Given the description of an element on the screen output the (x, y) to click on. 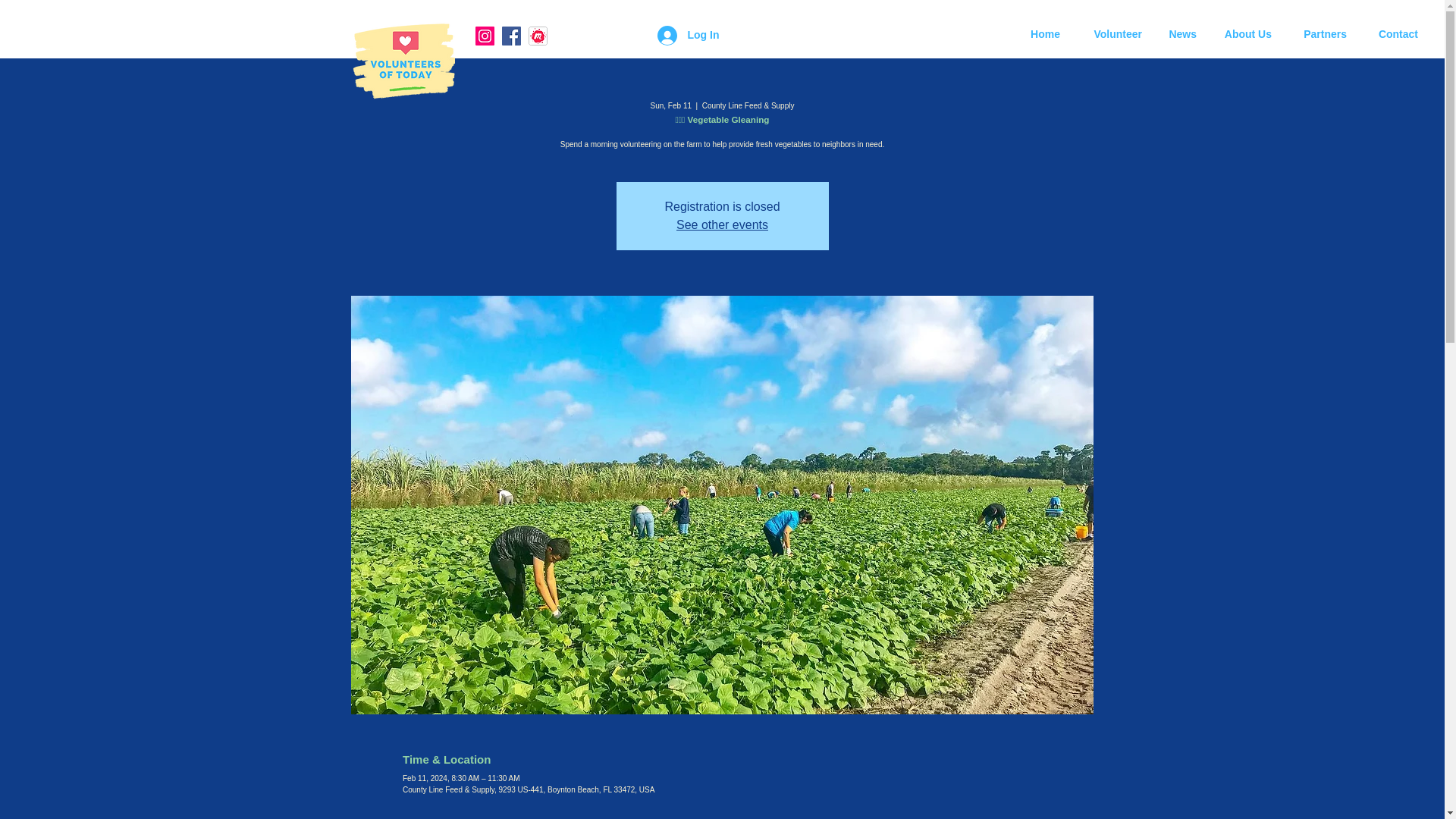
Contact (1393, 34)
Log In (687, 35)
About Us (1245, 34)
Home (1042, 34)
News (1180, 34)
See other events (722, 224)
Volunteer (1112, 34)
Partners (1320, 34)
